Given the description of an element on the screen output the (x, y) to click on. 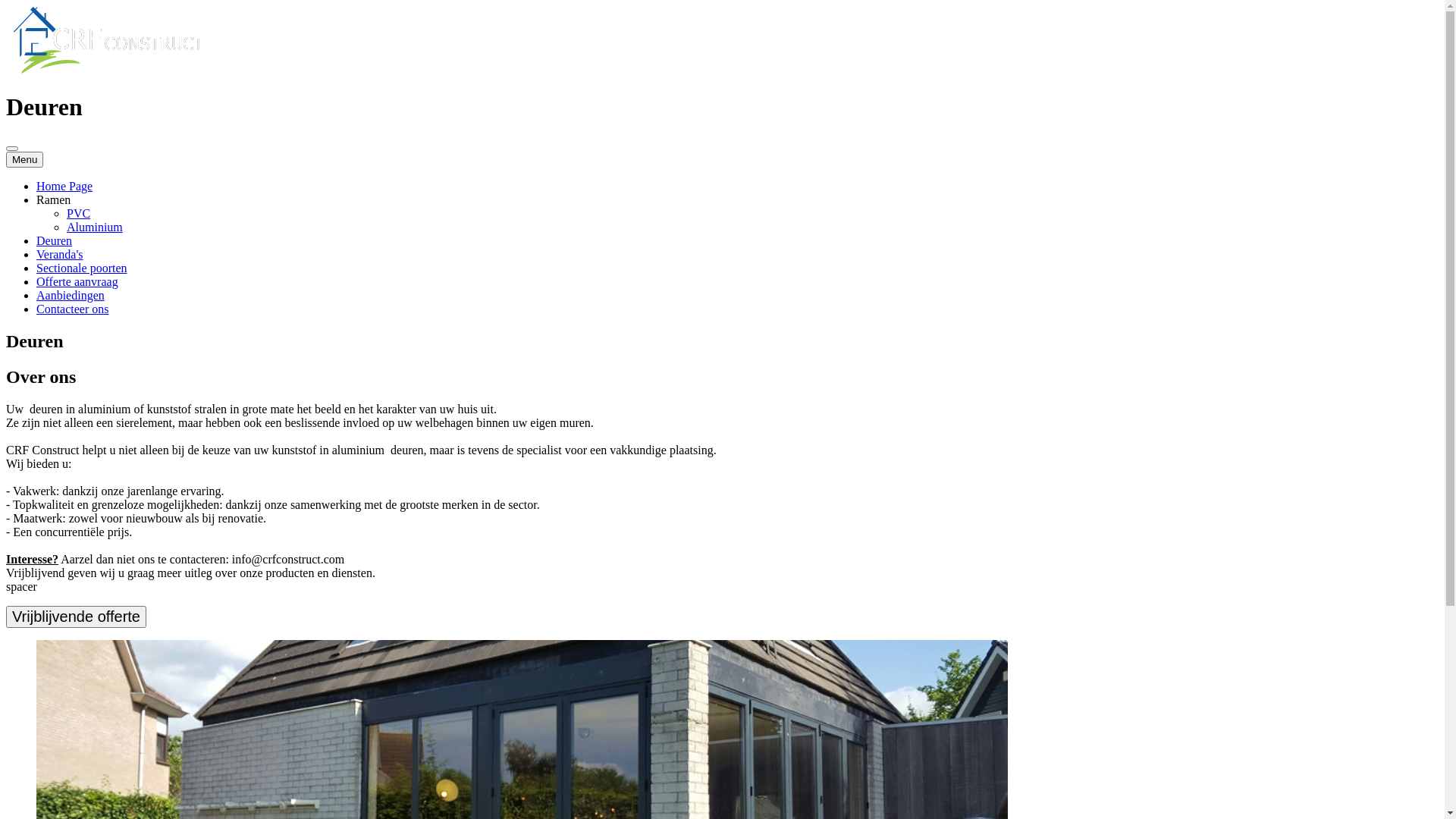
logo Element type: hover (108, 40)
Aanbiedingen Element type: text (70, 294)
Deuren Element type: text (54, 240)
Home Page Element type: text (64, 185)
Vrijblijvende offerte Element type: text (76, 616)
Contacteer ons Element type: text (72, 308)
Aluminium Element type: text (94, 226)
Veranda's Element type: text (59, 253)
Menu Element type: text (24, 159)
PVC Element type: text (78, 213)
Offerte aanvraag Element type: text (77, 281)
Sectionale poorten Element type: text (81, 267)
